Given the description of an element on the screen output the (x, y) to click on. 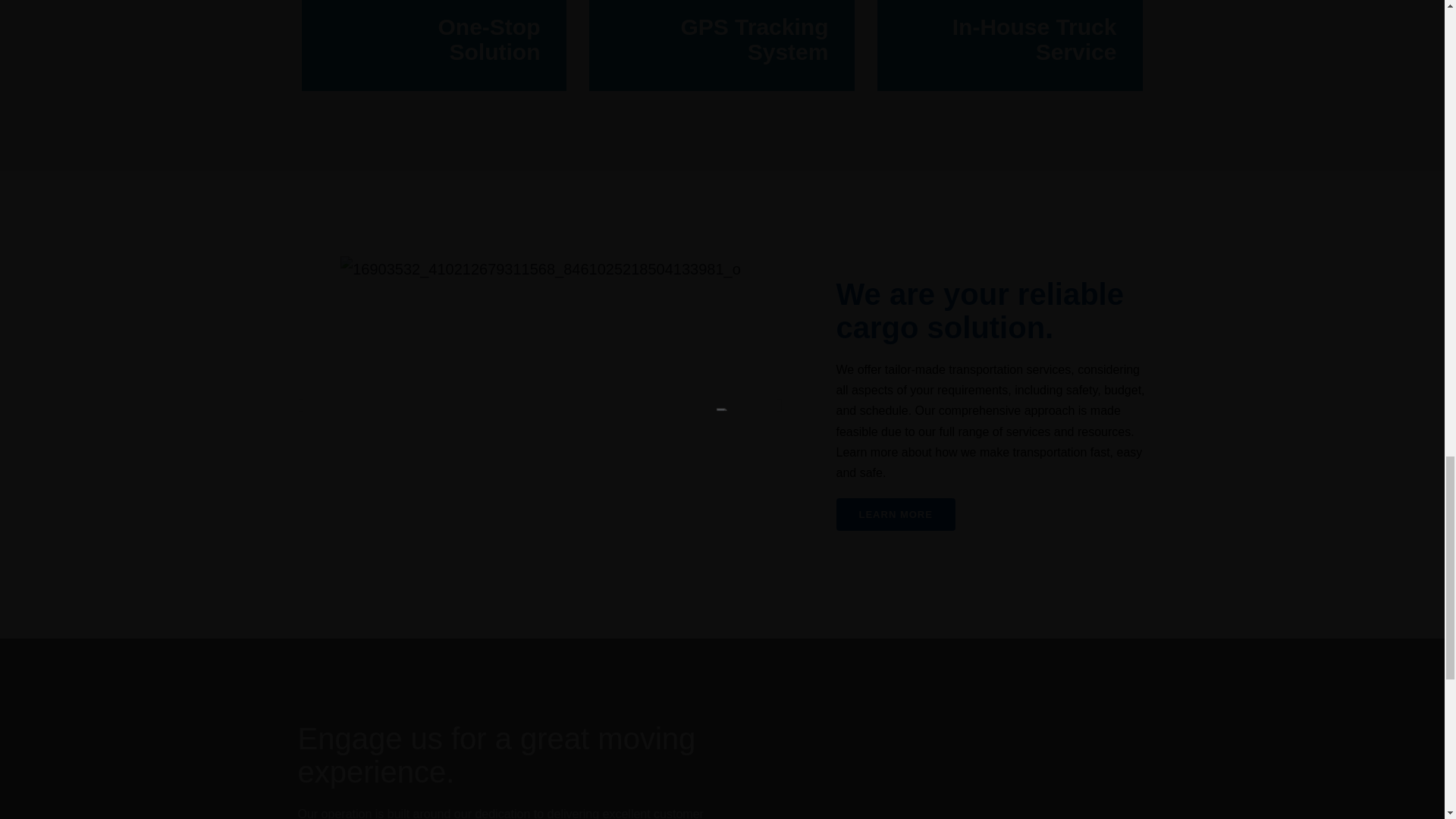
LEARN MORE (895, 513)
